Given the description of an element on the screen output the (x, y) to click on. 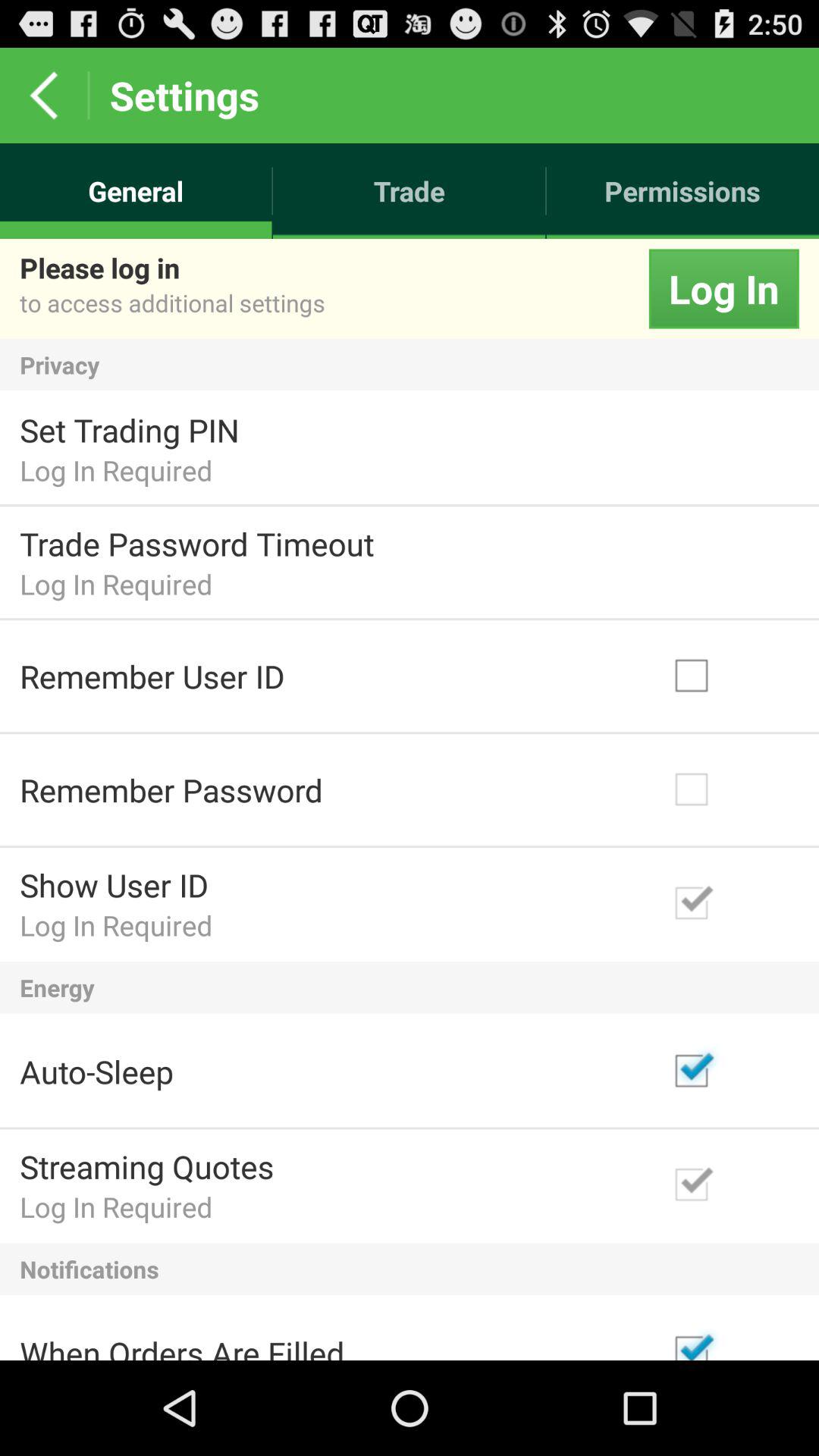
turn on the energy icon (409, 987)
